Given the description of an element on the screen output the (x, y) to click on. 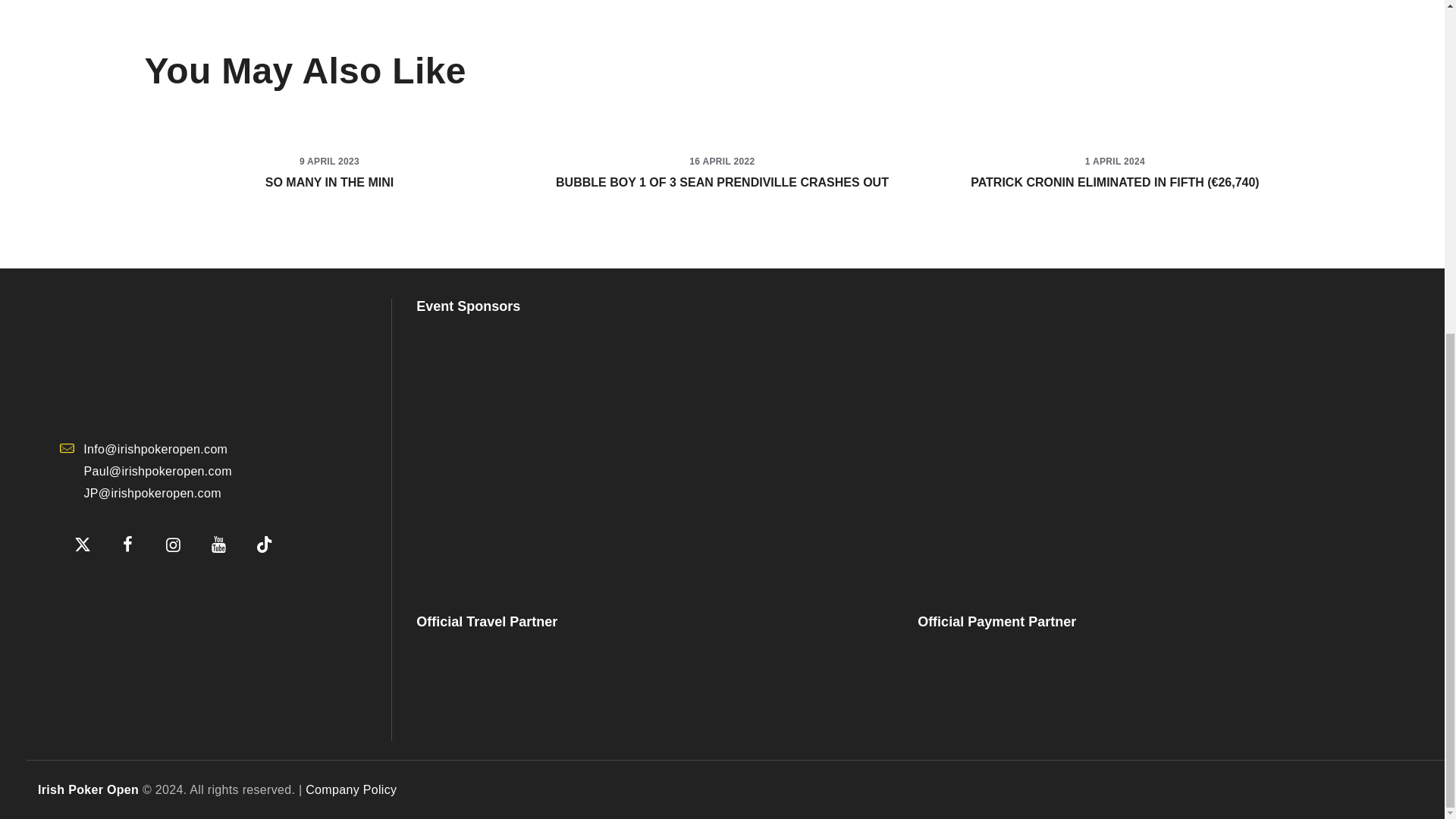
cropped-Irish-Open-Logo.jpg (172, 359)
Screen Shot 2023-01-12 at 09.14.15 (135, 589)
TRAVEL WHITE (526, 685)
PSLogoTransparent (652, 452)
